Given the description of an element on the screen output the (x, y) to click on. 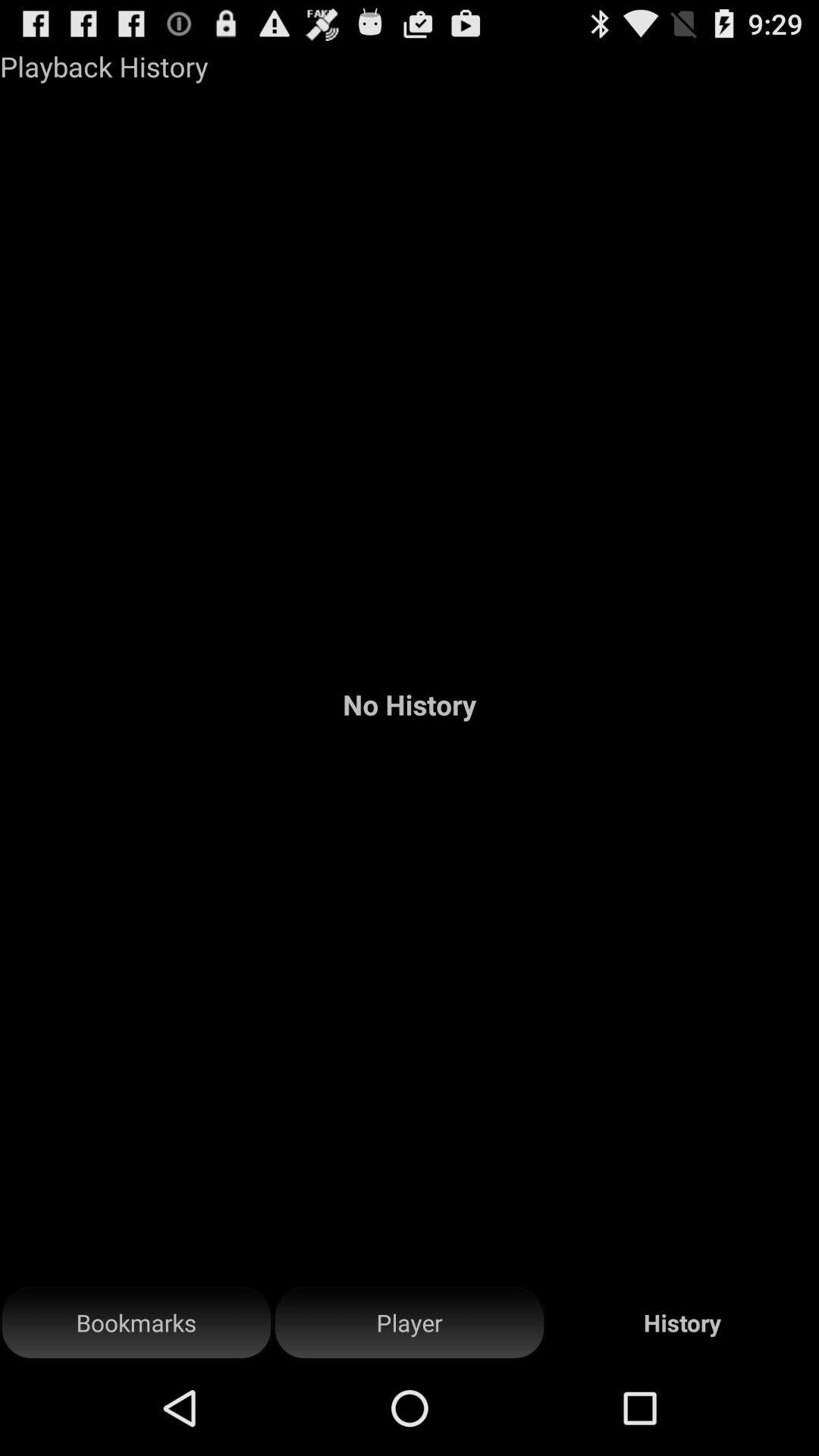
turn on item to the left of player icon (136, 1323)
